Given the description of an element on the screen output the (x, y) to click on. 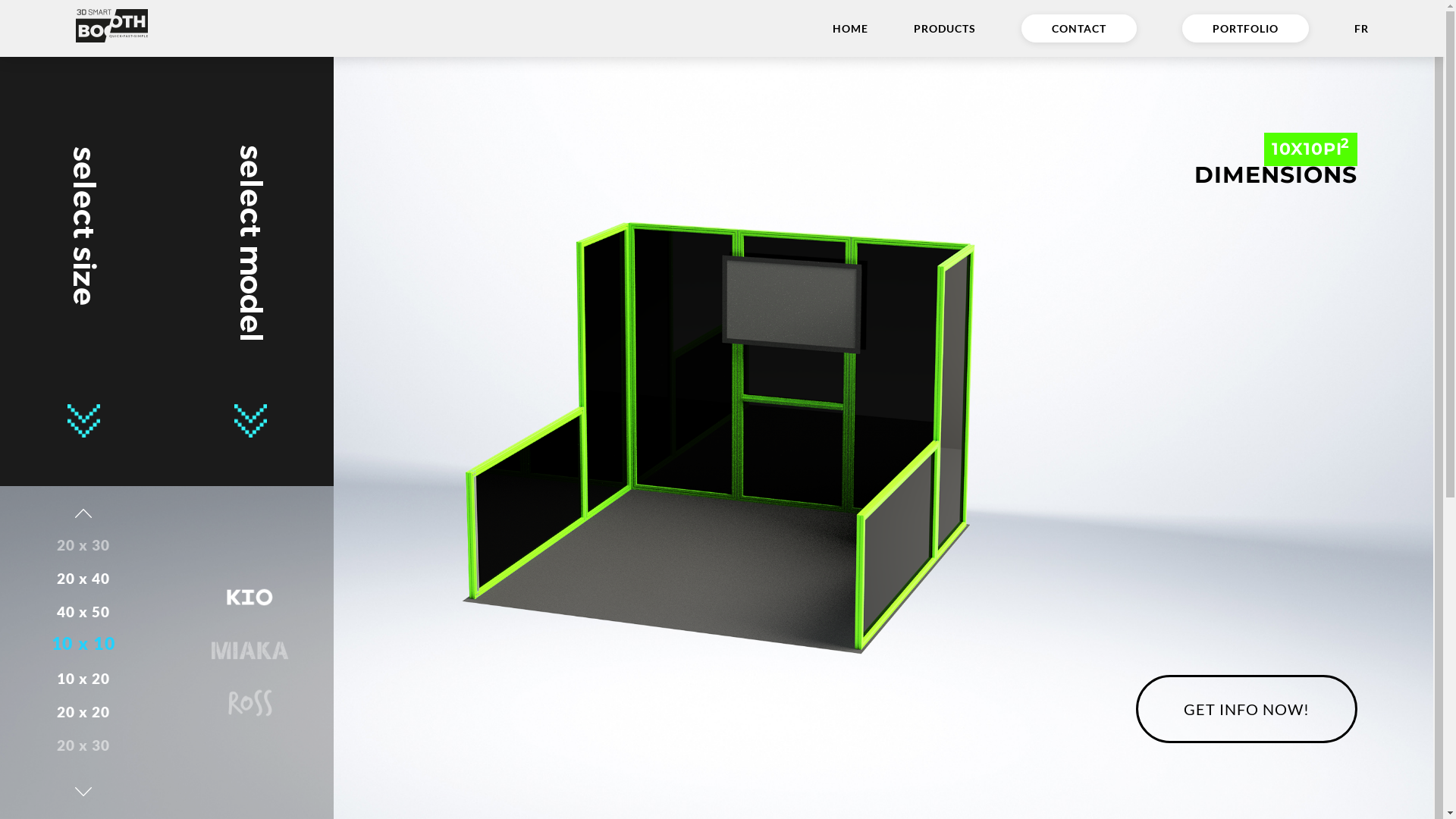
HOME Element type: text (850, 27)
PORTFOLIO Element type: text (1245, 28)
CONTACT Element type: text (1078, 28)
PRODUCTS Element type: text (944, 27)
GET INFO NOW! Element type: text (1246, 708)
FR Element type: text (1361, 27)
